Given the description of an element on the screen output the (x, y) to click on. 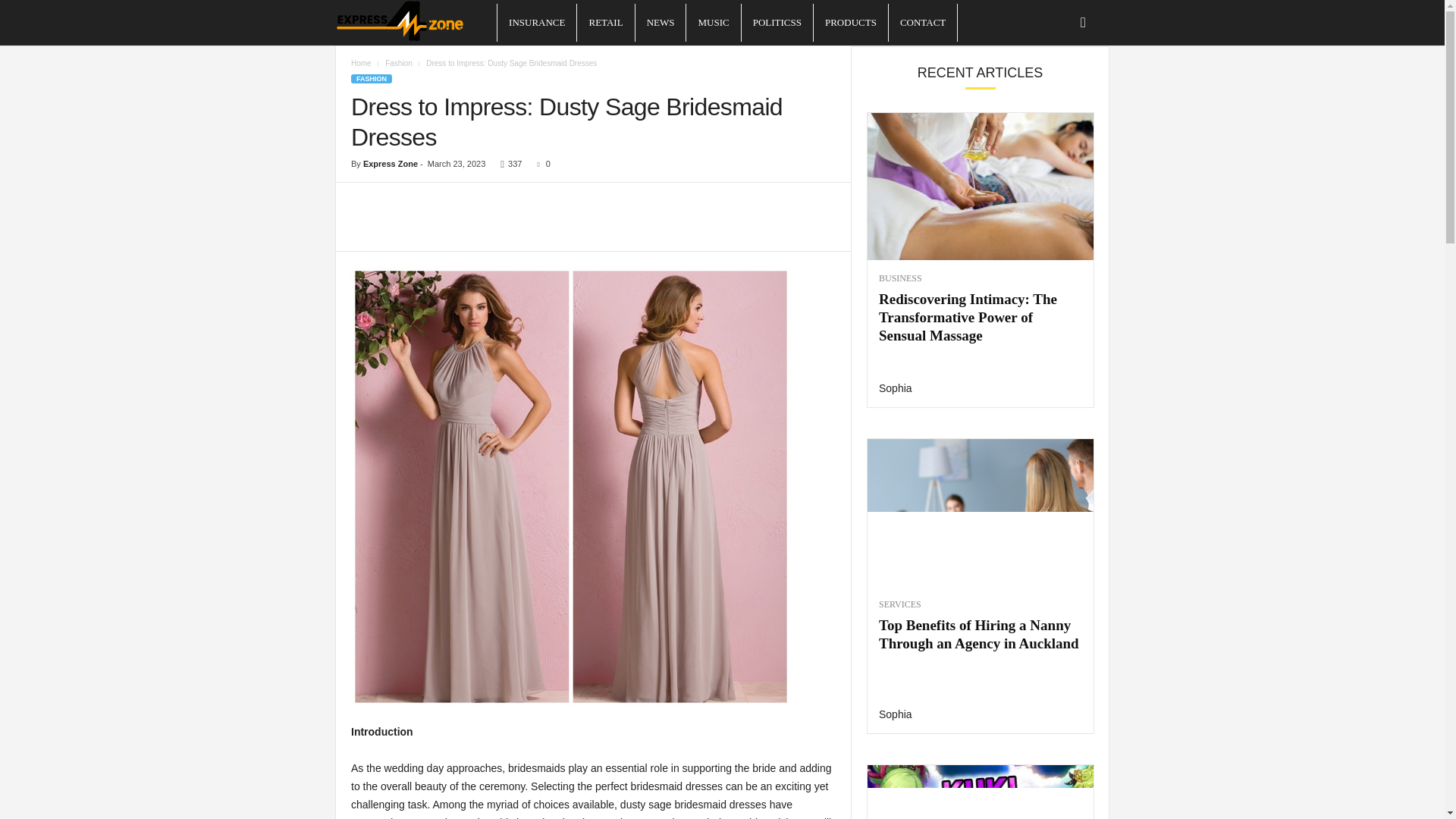
NEWS (659, 22)
View all posts in Fashion (398, 62)
Express Zone (415, 22)
INSURANCE (536, 22)
CONTACT (922, 22)
PRODUCTS (850, 22)
MUSIC (712, 22)
Express Zone (389, 163)
RETAIL (604, 22)
FASHION (370, 78)
0 (540, 163)
Fashion (398, 62)
Home (360, 62)
POLITICSS (776, 22)
